Given the description of an element on the screen output the (x, y) to click on. 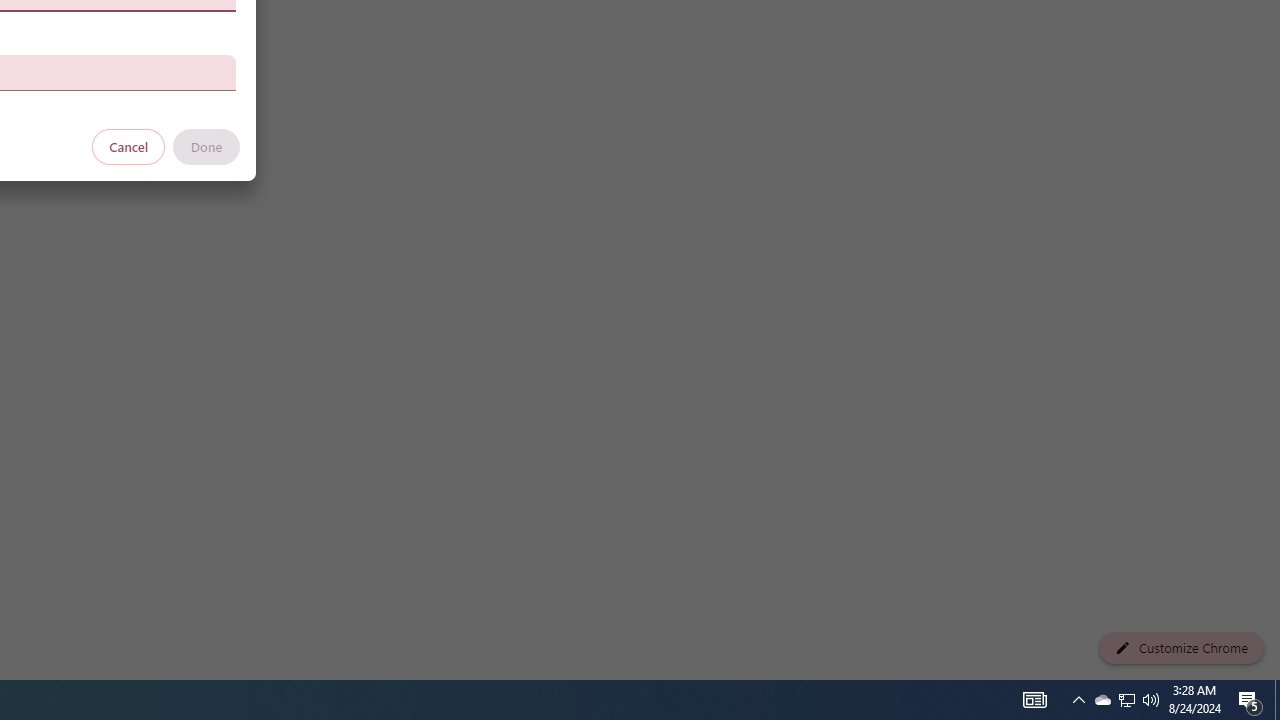
Done (206, 146)
Cancel (129, 146)
